Given the description of an element on the screen output the (x, y) to click on. 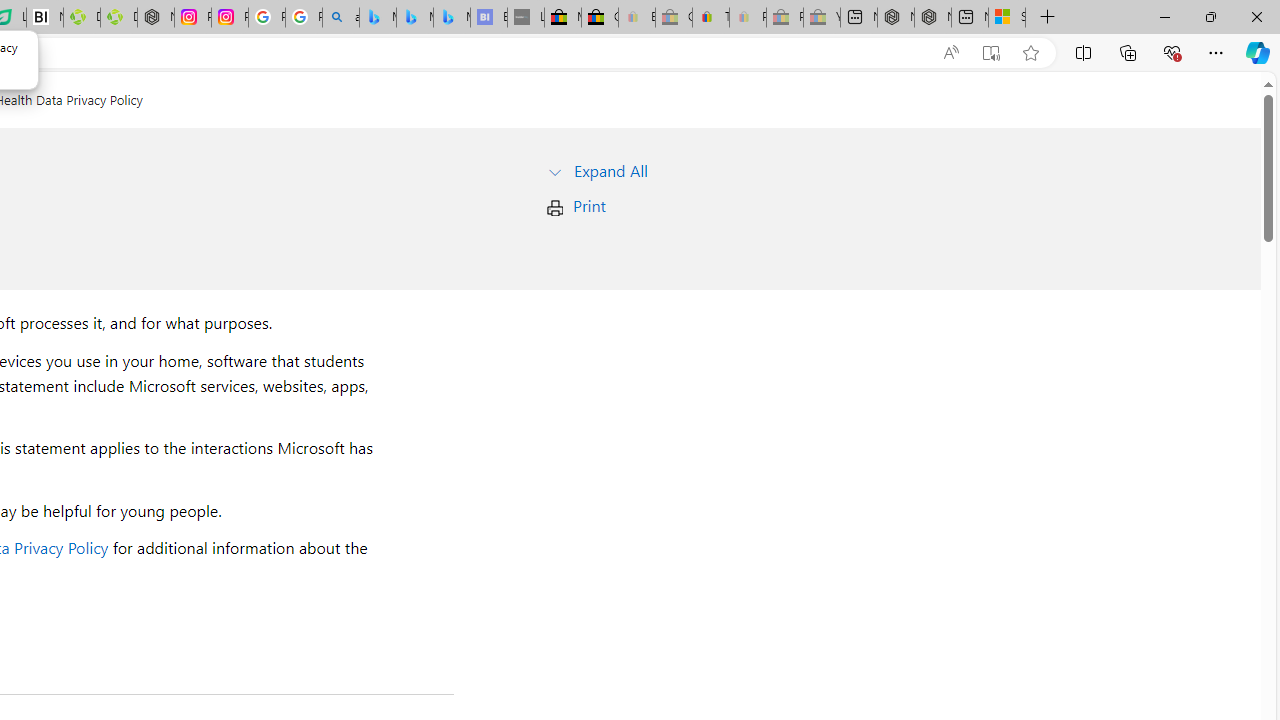
Print (589, 205)
Press Room - eBay Inc. - Sleeping (784, 17)
Microsoft Bing Travel - Flights from Hong Kong to Bangkok (377, 17)
